Given the description of an element on the screen output the (x, y) to click on. 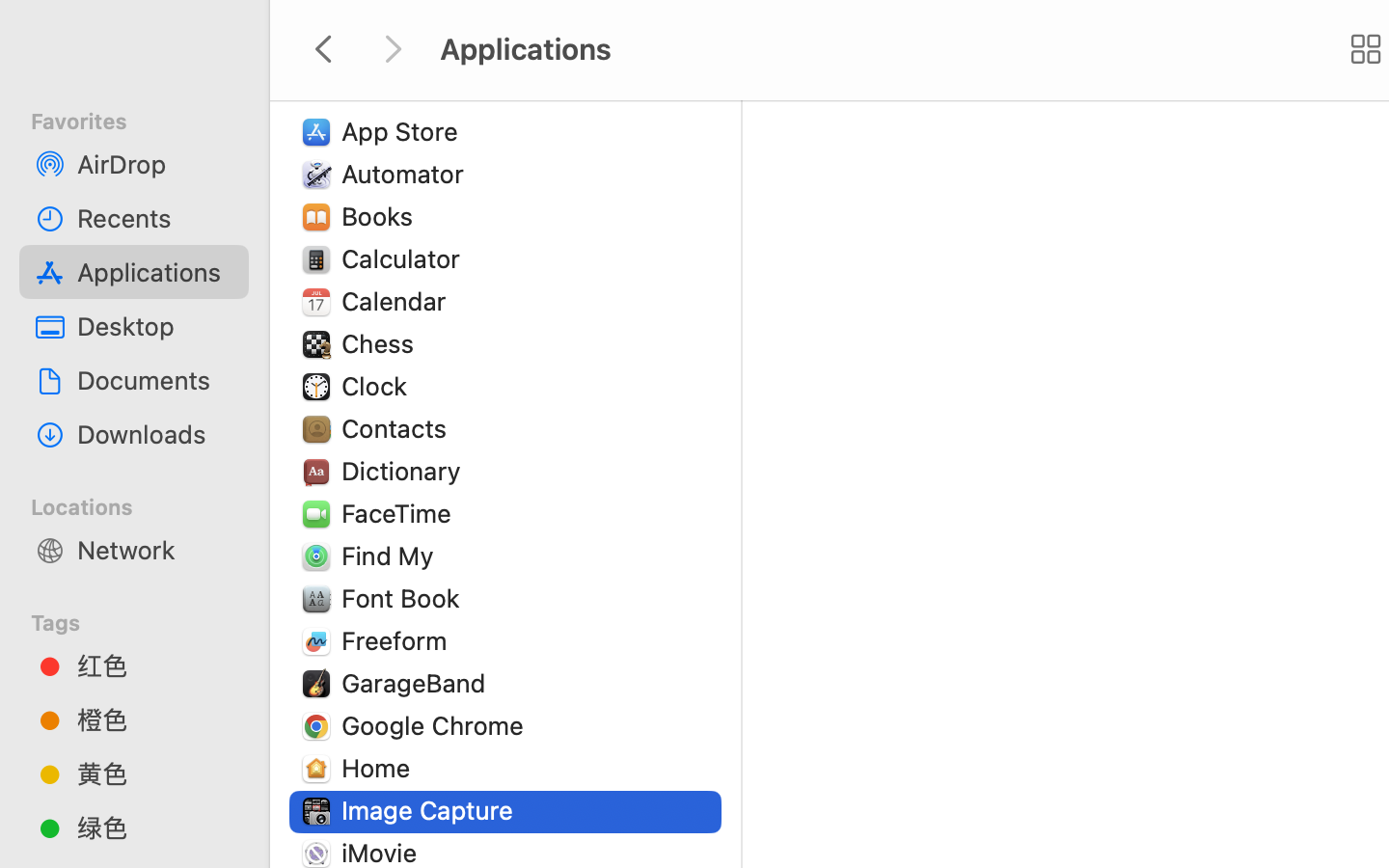
橙色 Element type: AXStaticText (155, 719)
AirDrop Element type: AXStaticText (155, 163)
Chess Element type: AXTextField (381, 342)
iMovie Element type: AXTextField (383, 852)
Google Chrome Element type: AXTextField (436, 724)
